Given the description of an element on the screen output the (x, y) to click on. 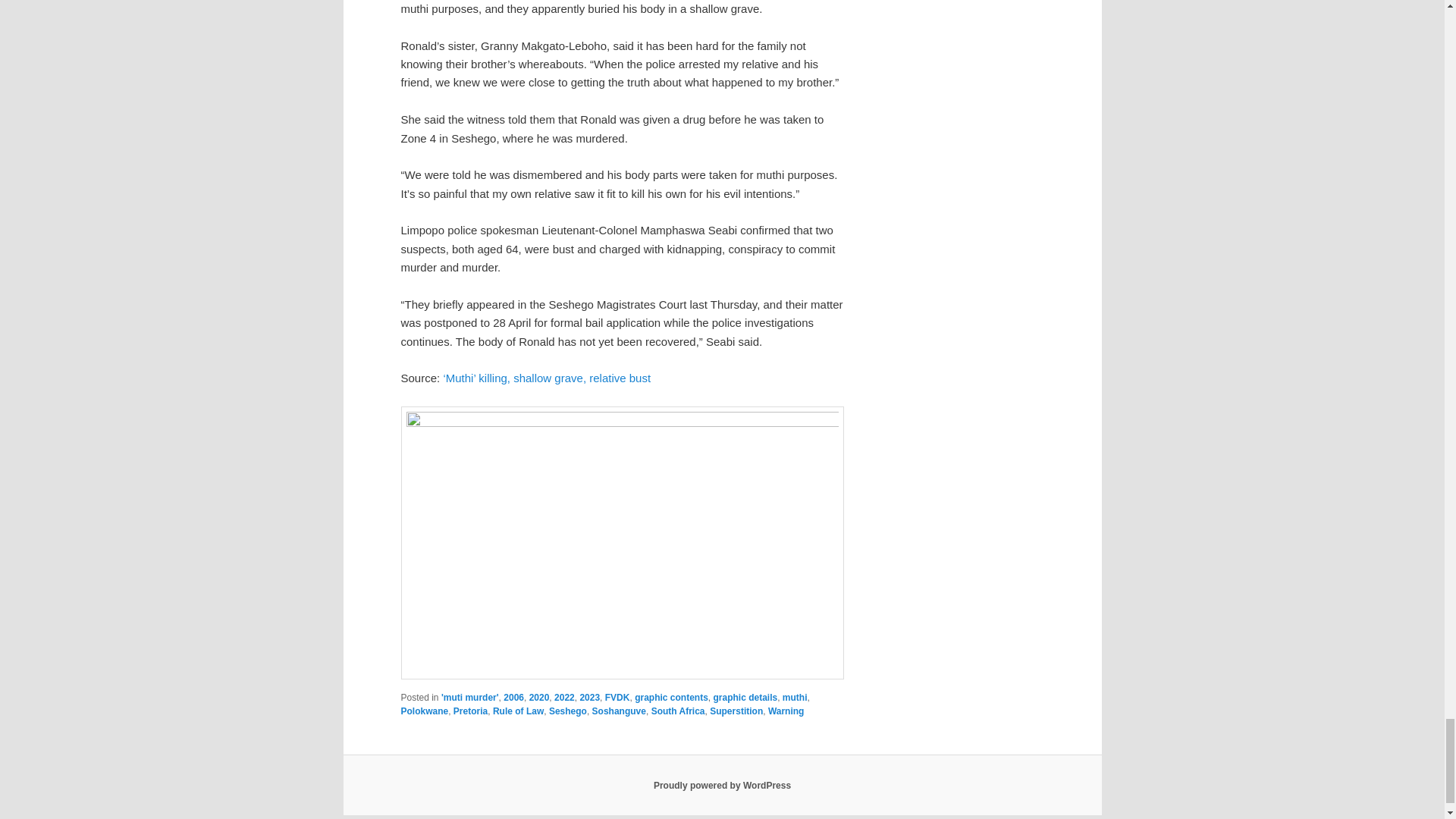
Semantic Personal Publishing Platform (721, 785)
